Given the description of an element on the screen output the (x, y) to click on. 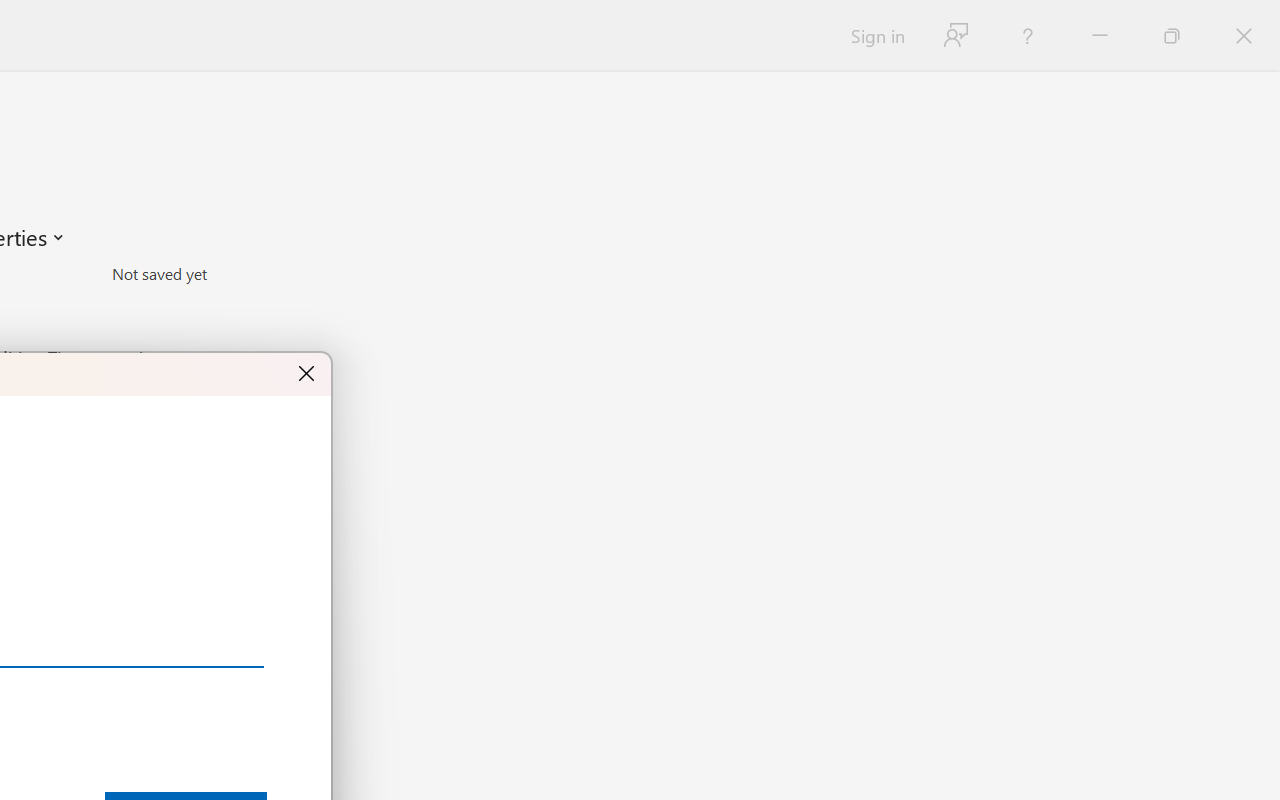
Pages (228, 301)
Words (228, 330)
Size (228, 274)
